Given the description of an element on the screen output the (x, y) to click on. 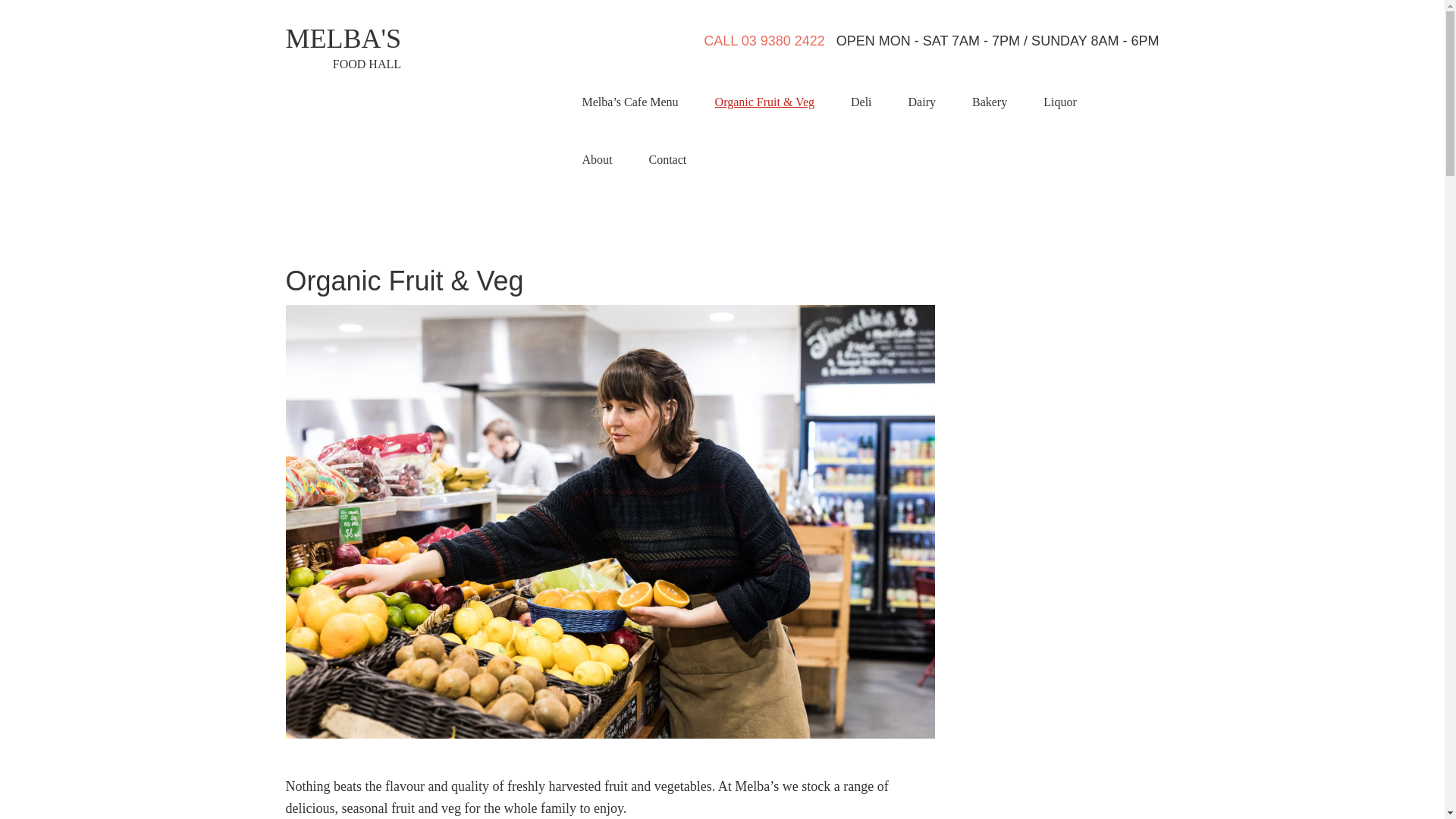
Deli Element type: text (861, 102)
Dairy Element type: text (921, 102)
About Element type: text (597, 159)
Contact Element type: text (667, 159)
MELBA'S Element type: text (343, 38)
Bakery Element type: text (989, 102)
Liquor Element type: text (1060, 102)
Organic Fruit & Veg Element type: text (764, 102)
Skip to content Element type: text (0, 0)
